Given the description of an element on the screen output the (x, y) to click on. 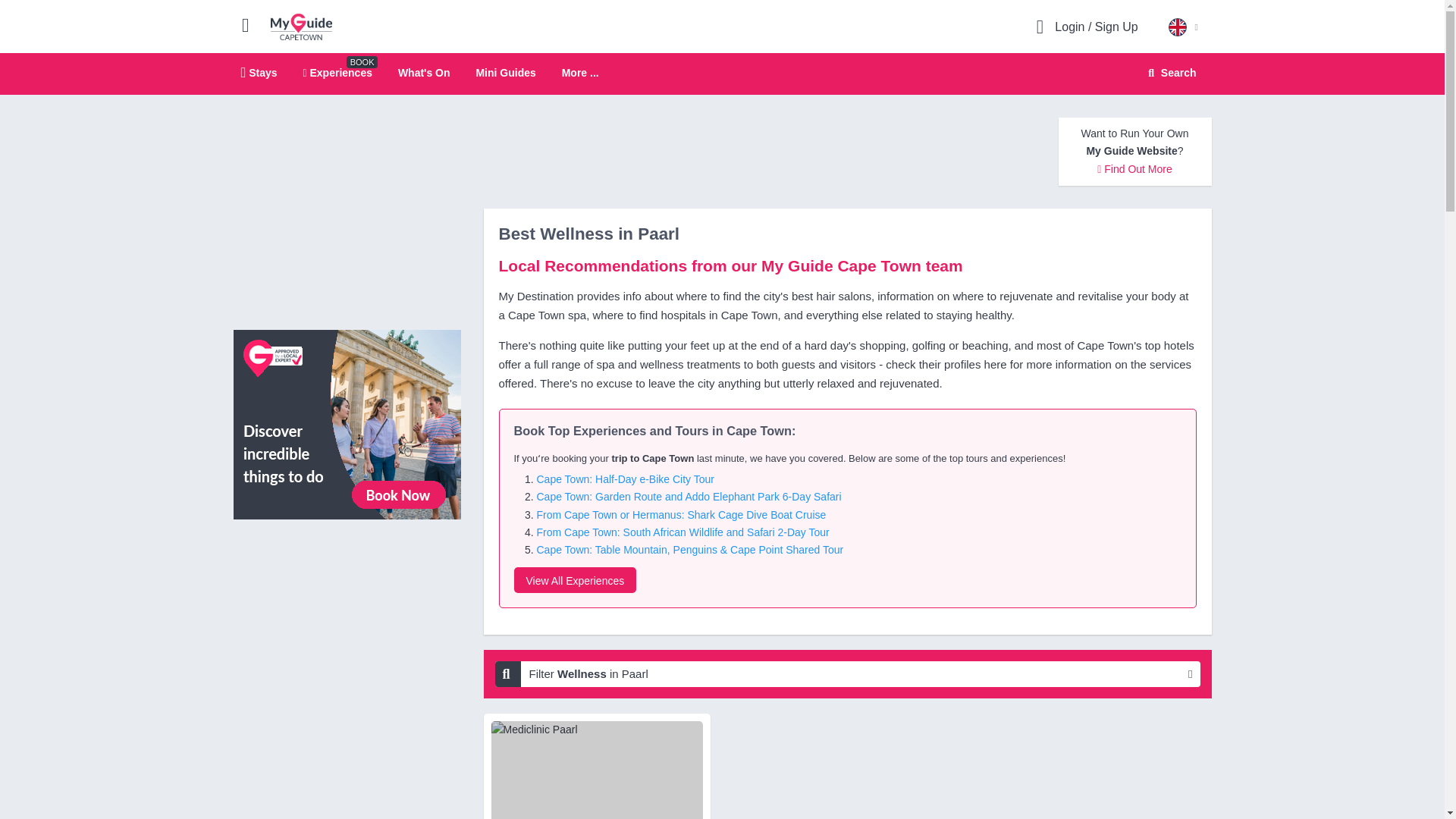
Search (1169, 72)
What's On (423, 72)
More ... (580, 72)
Mini Guides (505, 72)
Stays (259, 72)
Experiences (337, 72)
My Guide Cape Town (300, 25)
View All Experiences (575, 579)
View All Experiences (721, 74)
GetYourGuide Widget (346, 423)
